Given the description of an element on the screen output the (x, y) to click on. 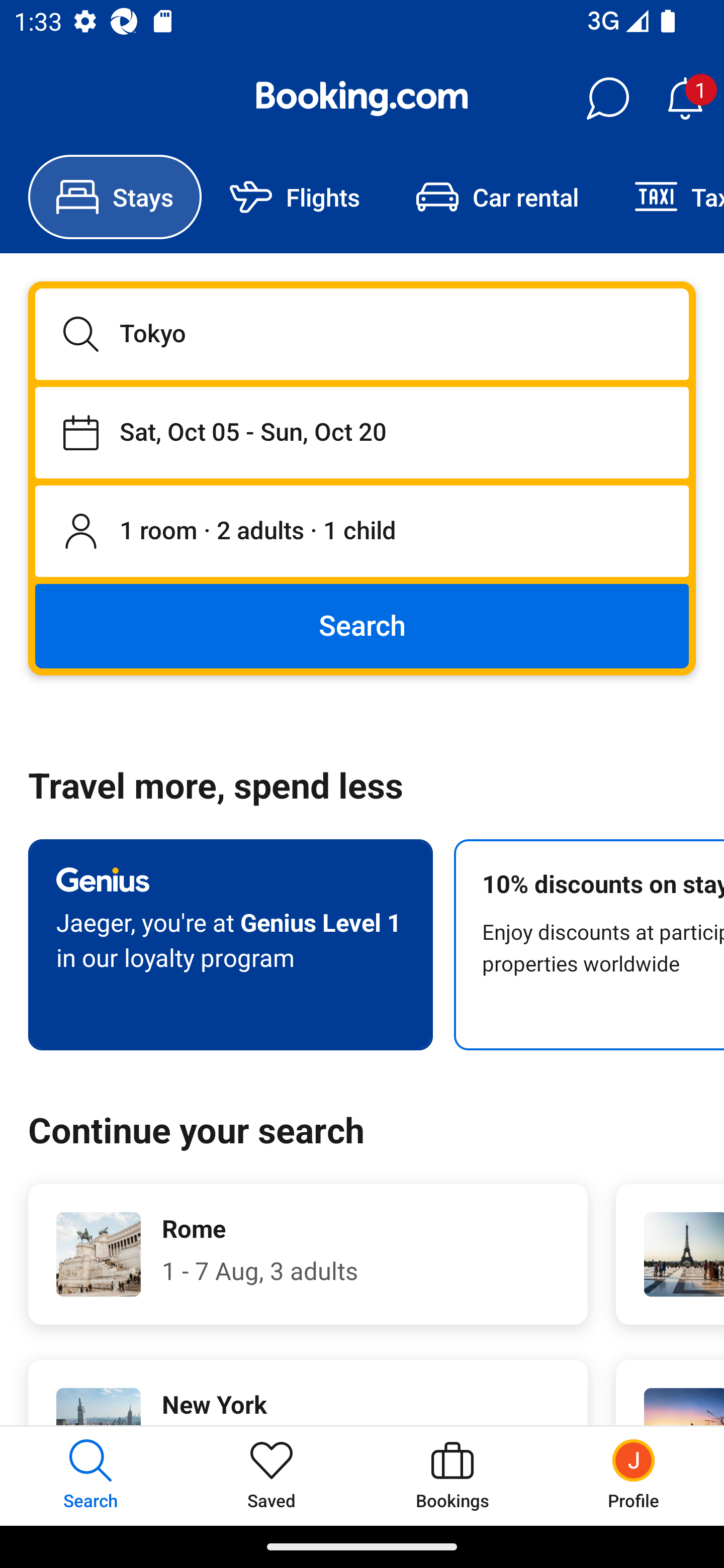
Messages (607, 98)
Notifications (685, 98)
Stays (114, 197)
Flights (294, 197)
Car rental (497, 197)
Taxi (665, 197)
Tokyo (361, 333)
Staying from Sat, Oct 05 until Sun, Oct 20 (361, 432)
1 room, 2 adults, 1 child (361, 531)
Search (361, 625)
Rome 1 - 7 Aug, 3 adults (307, 1253)
Saved (271, 1475)
Bookings (452, 1475)
Profile (633, 1475)
